Given the description of an element on the screen output the (x, y) to click on. 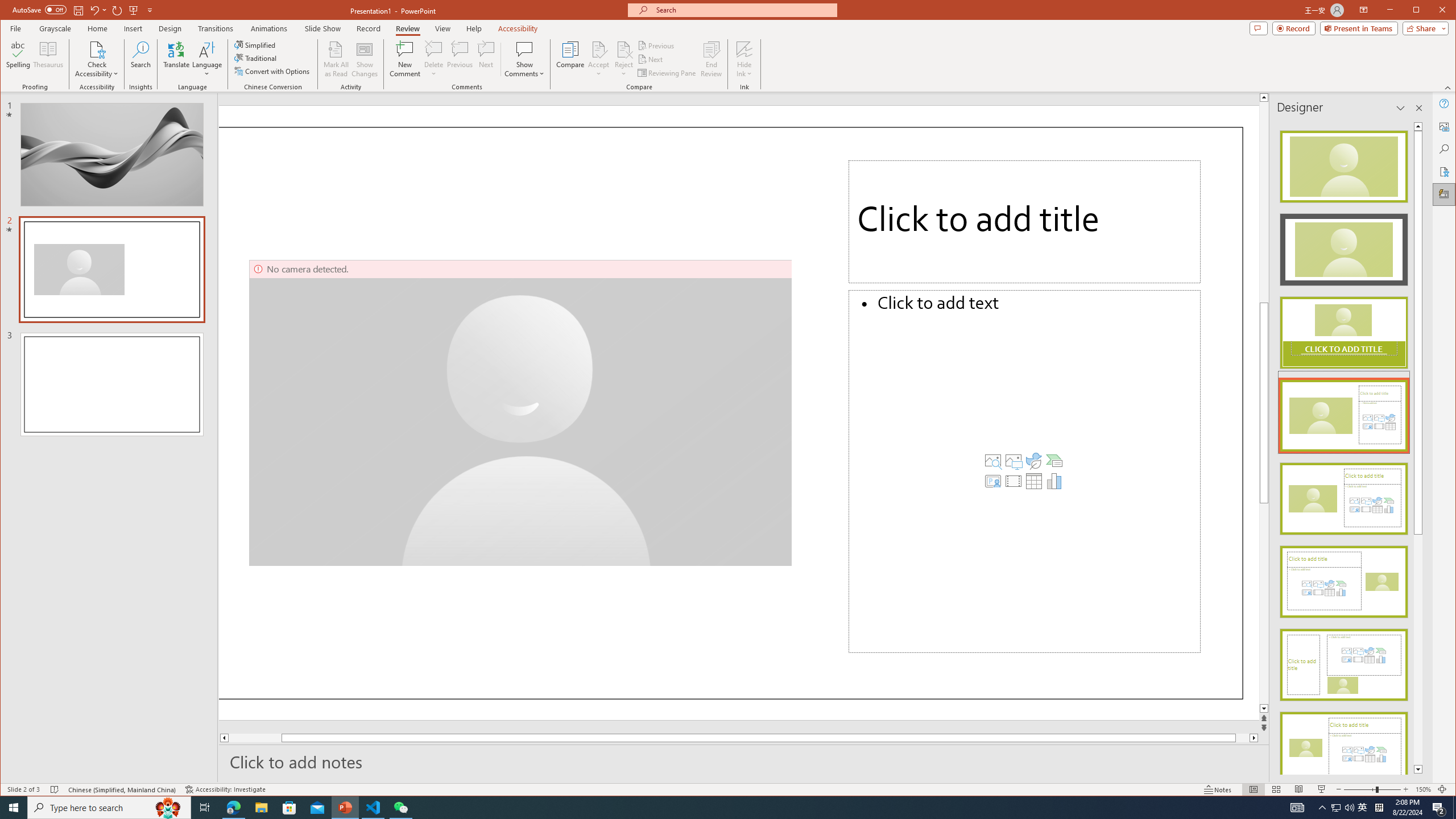
Insert Chart (1053, 480)
Insert a SmartArt Graphic (1053, 460)
Reviewing Pane (667, 72)
